Given the description of an element on the screen output the (x, y) to click on. 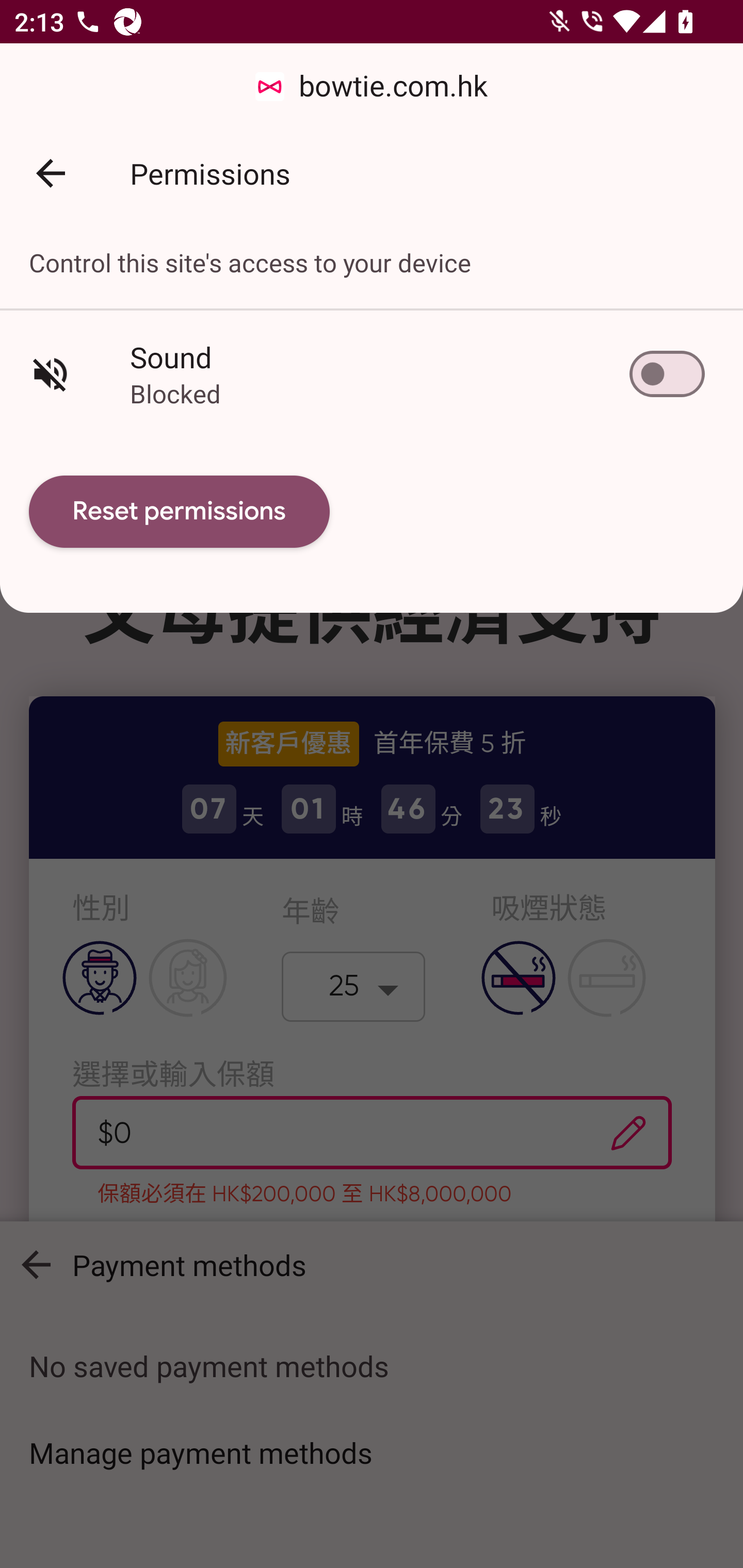
bowtie.com.hk (371, 86)
Back (50, 173)
Sound Blocked (371, 373)
Reset permissions (178, 511)
